Given the description of an element on the screen output the (x, y) to click on. 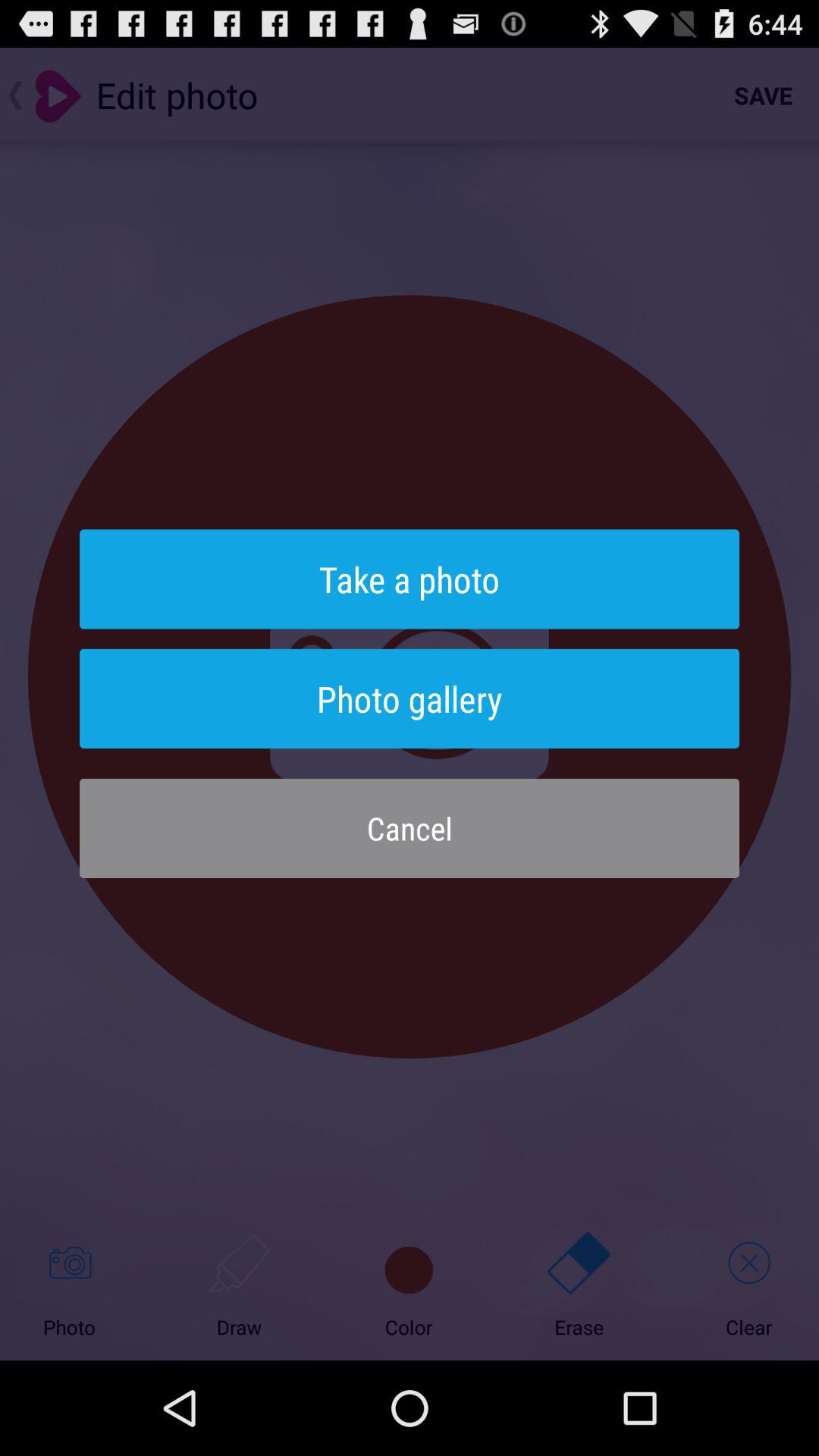
select button below the photo gallery icon (409, 828)
